Given the description of an element on the screen output the (x, y) to click on. 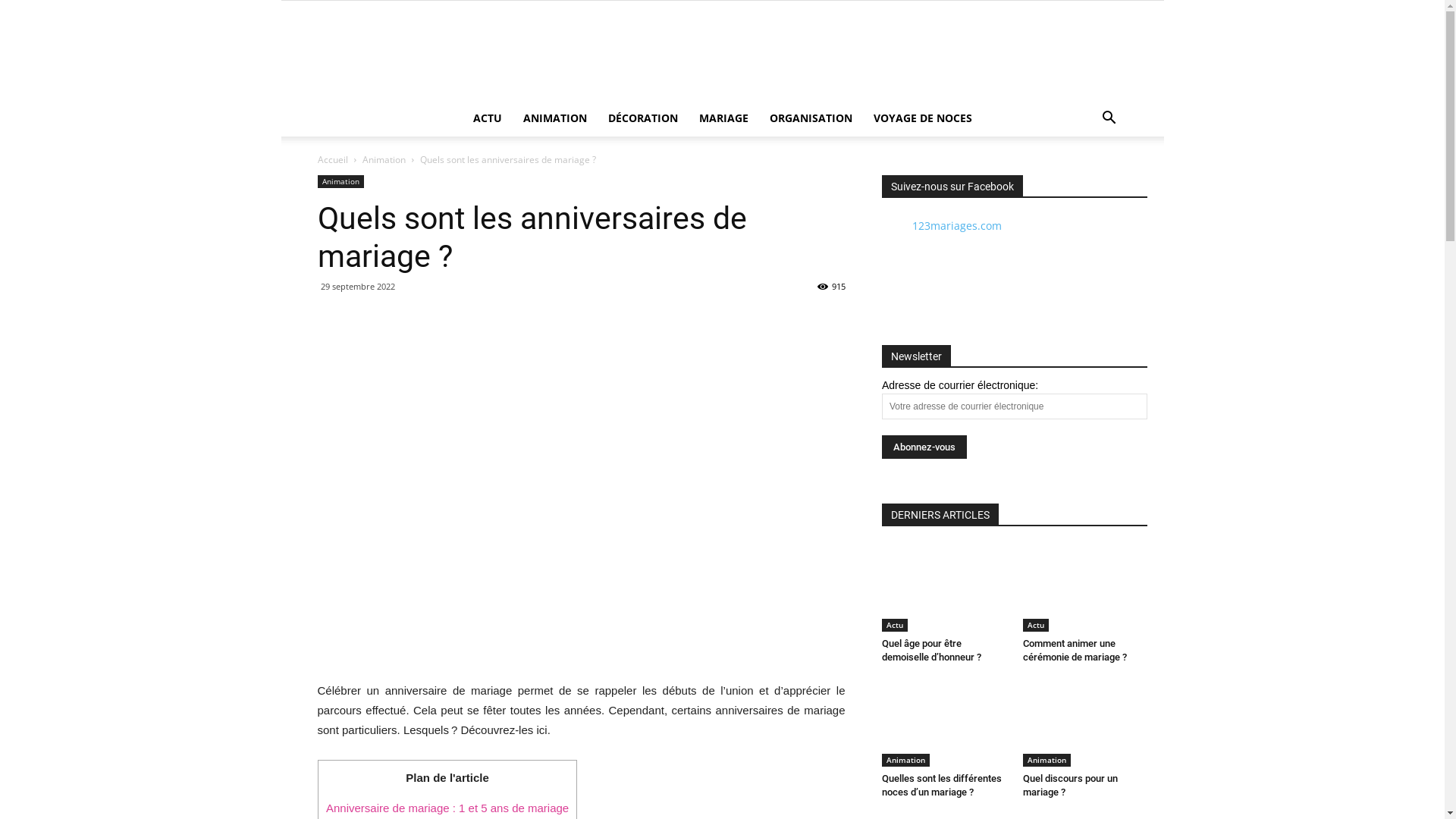
ORGANISATION Element type: text (810, 118)
ANIMATION Element type: text (554, 118)
Rechercher Element type: text (1075, 178)
visu-anniversaire-organiser-mariage-comment-un-1 Element type: hover (580, 485)
Abonnez-vous Element type: text (923, 446)
ACTU Element type: text (487, 118)
Animation Element type: text (339, 181)
Accueil Element type: text (331, 159)
Quel discours pour un mariage ? Element type: hover (1084, 723)
Animation Element type: text (383, 159)
Actu Element type: text (893, 624)
Animation Element type: text (904, 760)
MARIAGE Element type: text (723, 118)
Animation Element type: text (1046, 760)
123 Mariages Element type: text (721, 50)
VOYAGE DE NOCES Element type: text (922, 118)
Anniversaire de mariage : 1 et 5 ans de mariage Element type: text (447, 808)
123mariages.com Element type: text (956, 225)
Quel discours pour un mariage ? Element type: text (1069, 785)
Actu Element type: text (1035, 624)
